Given the description of an element on the screen output the (x, y) to click on. 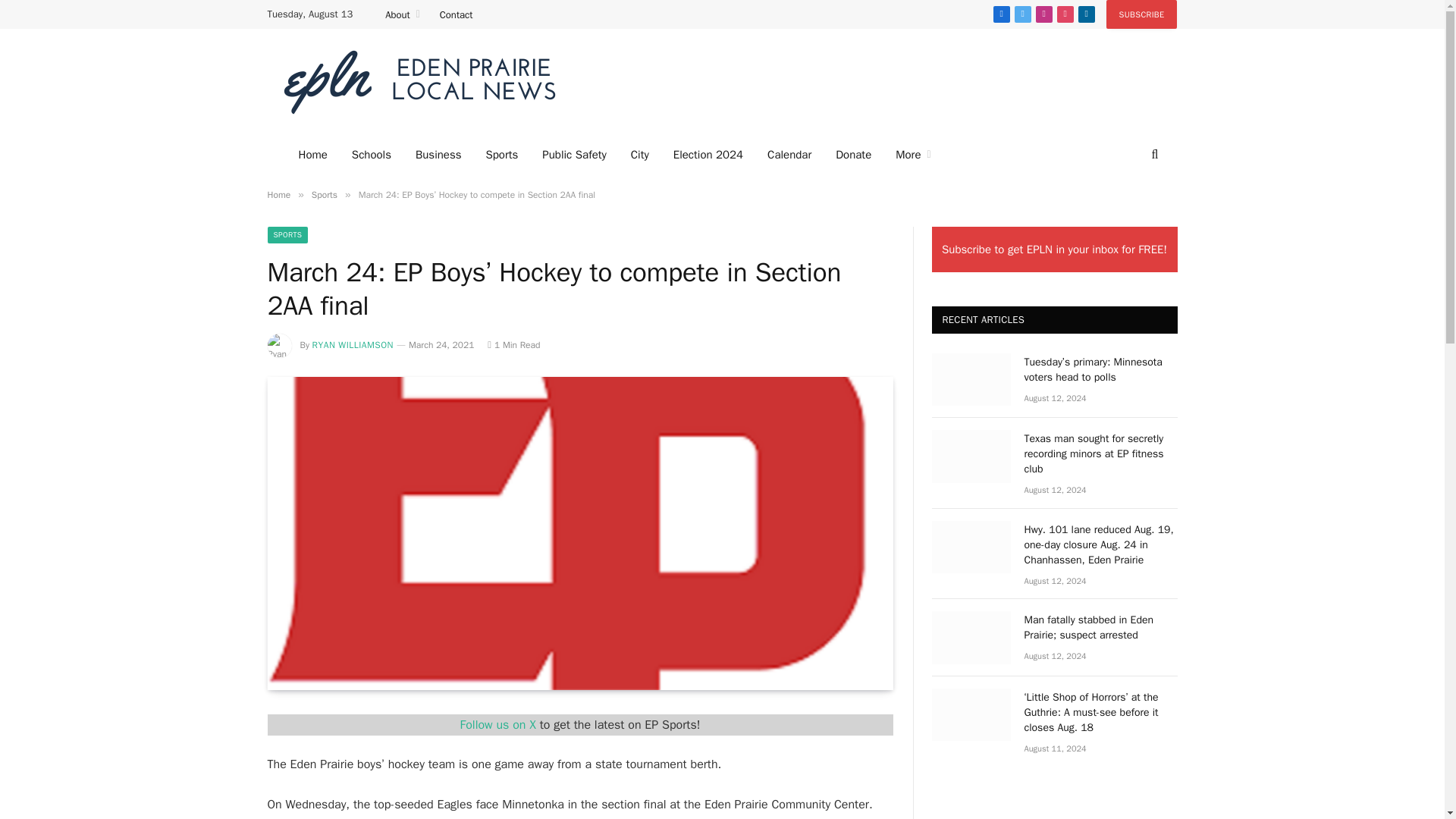
SUBSCRIBE (1141, 14)
Threads (1065, 13)
Donate (853, 154)
Home (312, 154)
Schools (371, 154)
City (639, 154)
Contact (456, 14)
More (912, 154)
About (402, 14)
Election 2024 (708, 154)
